Given the description of an element on the screen output the (x, y) to click on. 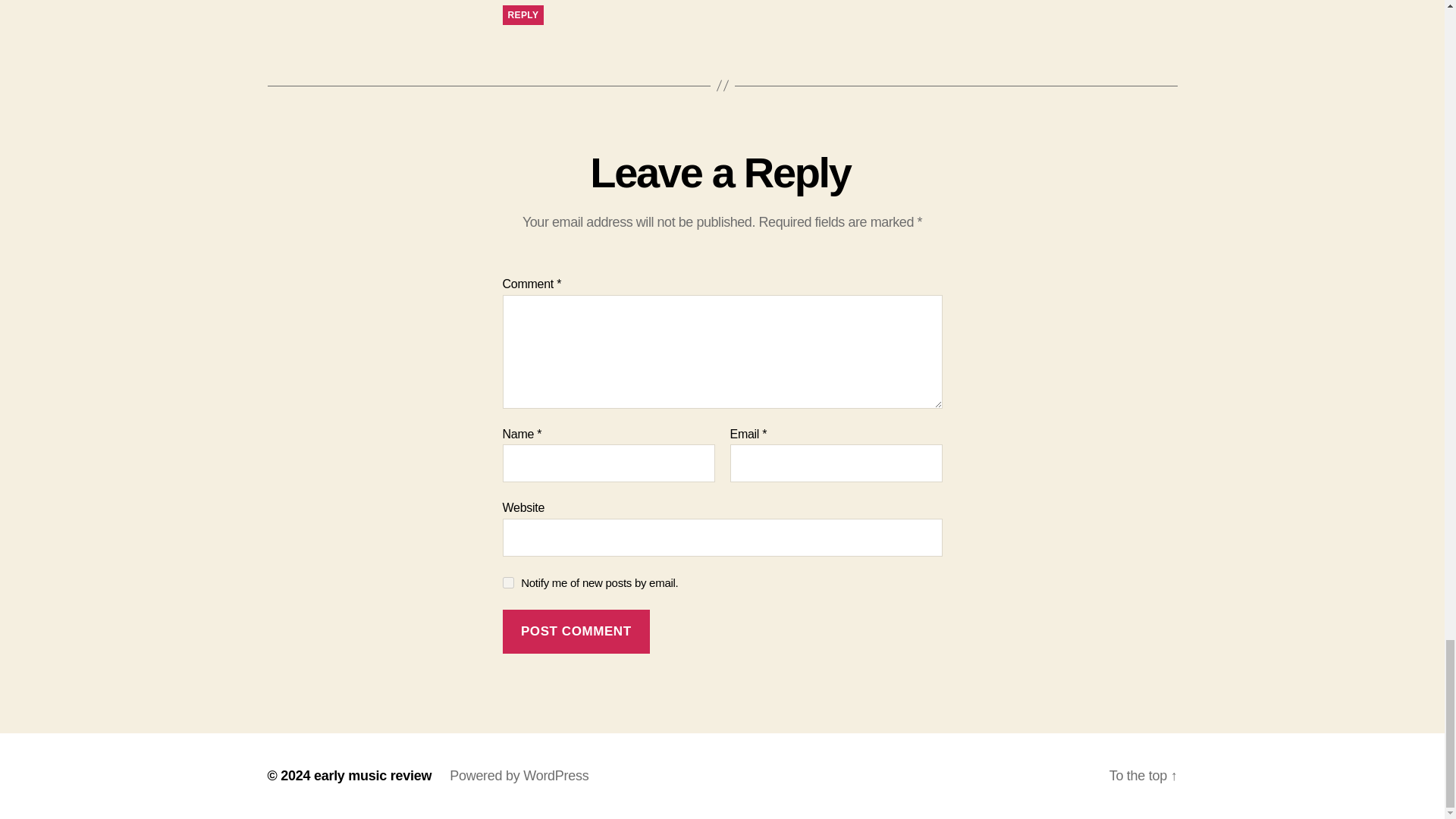
early music review (372, 775)
Post Comment (575, 631)
subscribe (507, 582)
REPLY (522, 14)
Post Comment (575, 631)
REPLY (522, 14)
Powered by WordPress (518, 775)
